Given the description of an element on the screen output the (x, y) to click on. 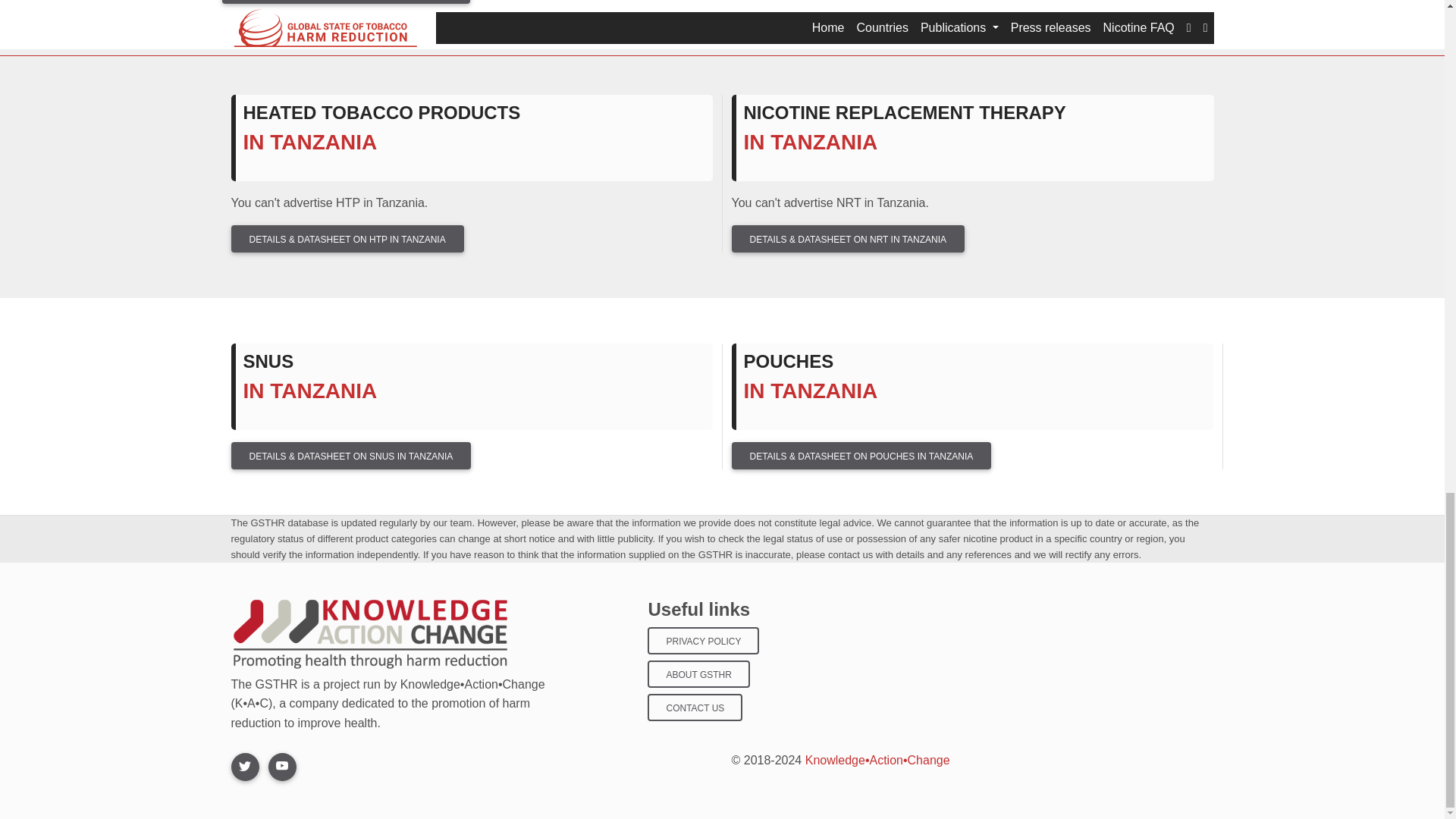
Youtube (282, 766)
CONTACT US (694, 707)
Privacy policy (702, 640)
PRIVACY POLICY (702, 640)
About GSTHR (698, 673)
Twitter (244, 766)
Contact us (694, 707)
ABOUT GSTHR (698, 673)
